Given the description of an element on the screen output the (x, y) to click on. 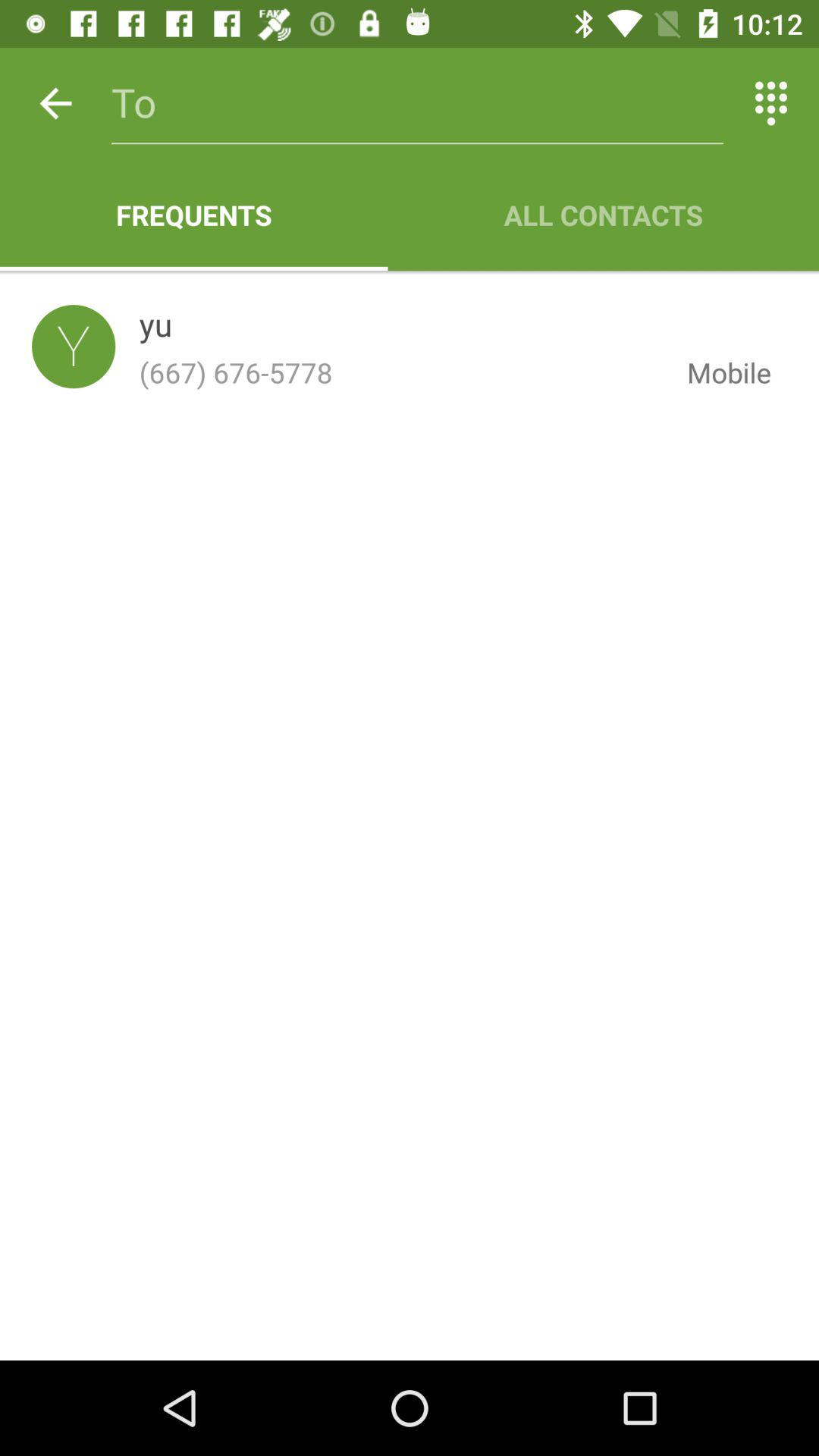
turn off all contacts (603, 214)
